Given the description of an element on the screen output the (x, y) to click on. 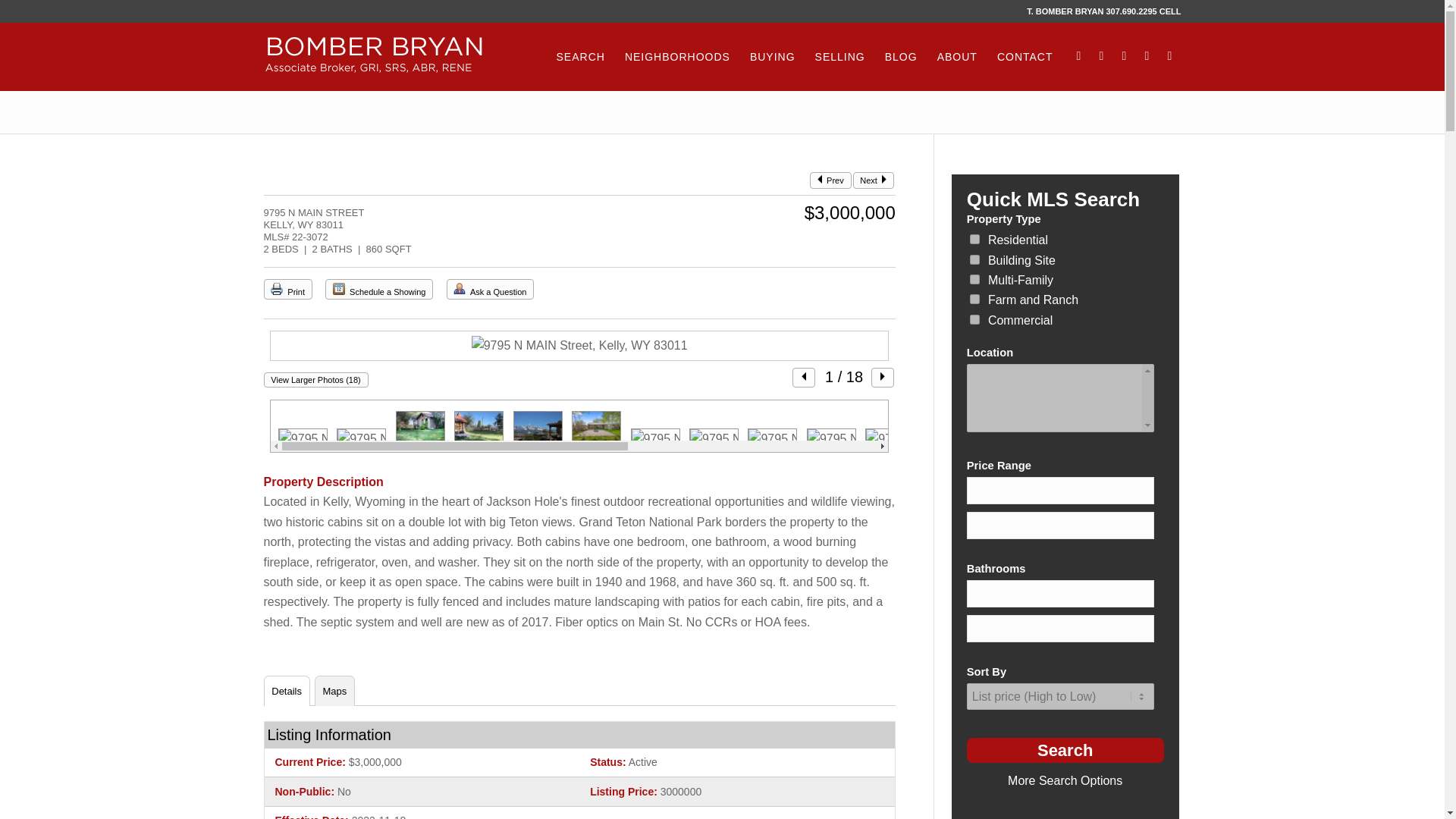
B (974, 259)
LinkedIn (1101, 56)
Previous Listing (819, 179)
C (974, 279)
SEARCH (580, 56)
Previous Photo (804, 376)
NEIGHBORHOODS (676, 56)
A (974, 239)
Ask a Question (458, 288)
ABOUT (957, 56)
Instagram (1146, 56)
SELLING (840, 56)
D (974, 298)
Search (1064, 749)
CONTACT (1024, 56)
